Given the description of an element on the screen output the (x, y) to click on. 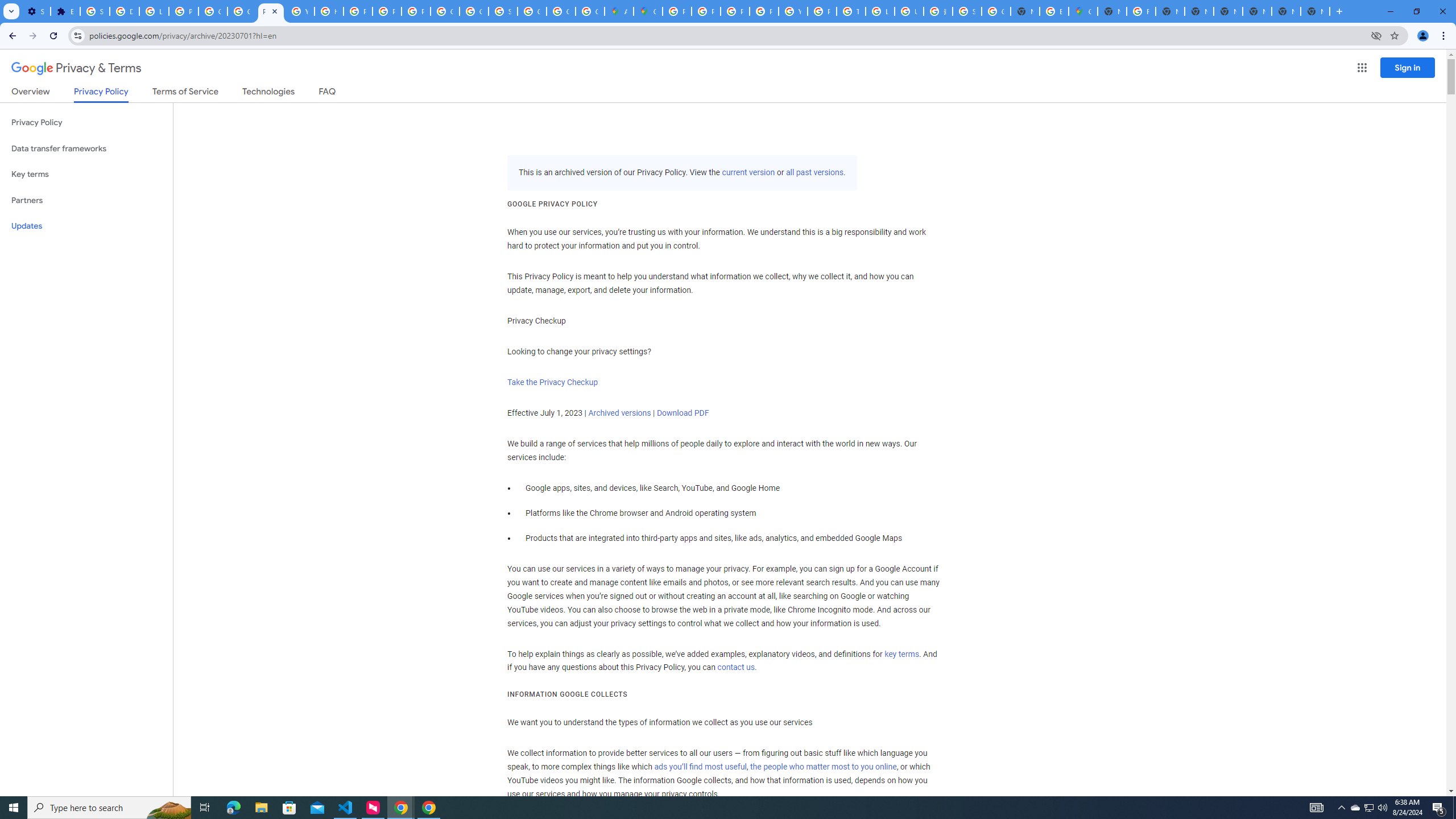
Google Maps (648, 11)
Sign in - Google Accounts (502, 11)
Data transfer frameworks (86, 148)
Google Maps (1082, 11)
Create your Google Account (590, 11)
